Given the description of an element on the screen output the (x, y) to click on. 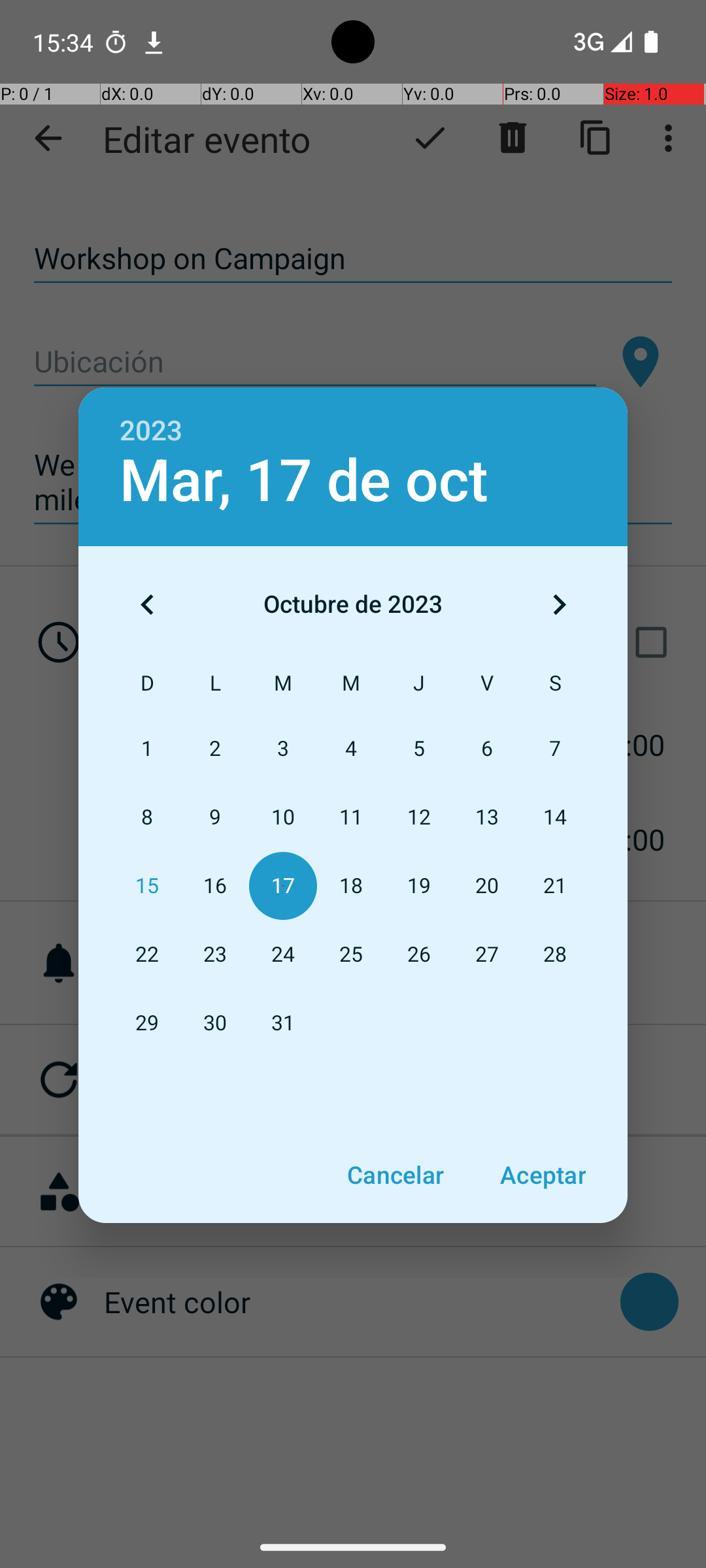
Mar, 17 de oct Element type: android.widget.TextView (303, 480)
Mes anterior Element type: android.widget.ImageButton (146, 604)
Mes siguiente Element type: android.widget.ImageButton (558, 604)
